Given the description of an element on the screen output the (x, y) to click on. 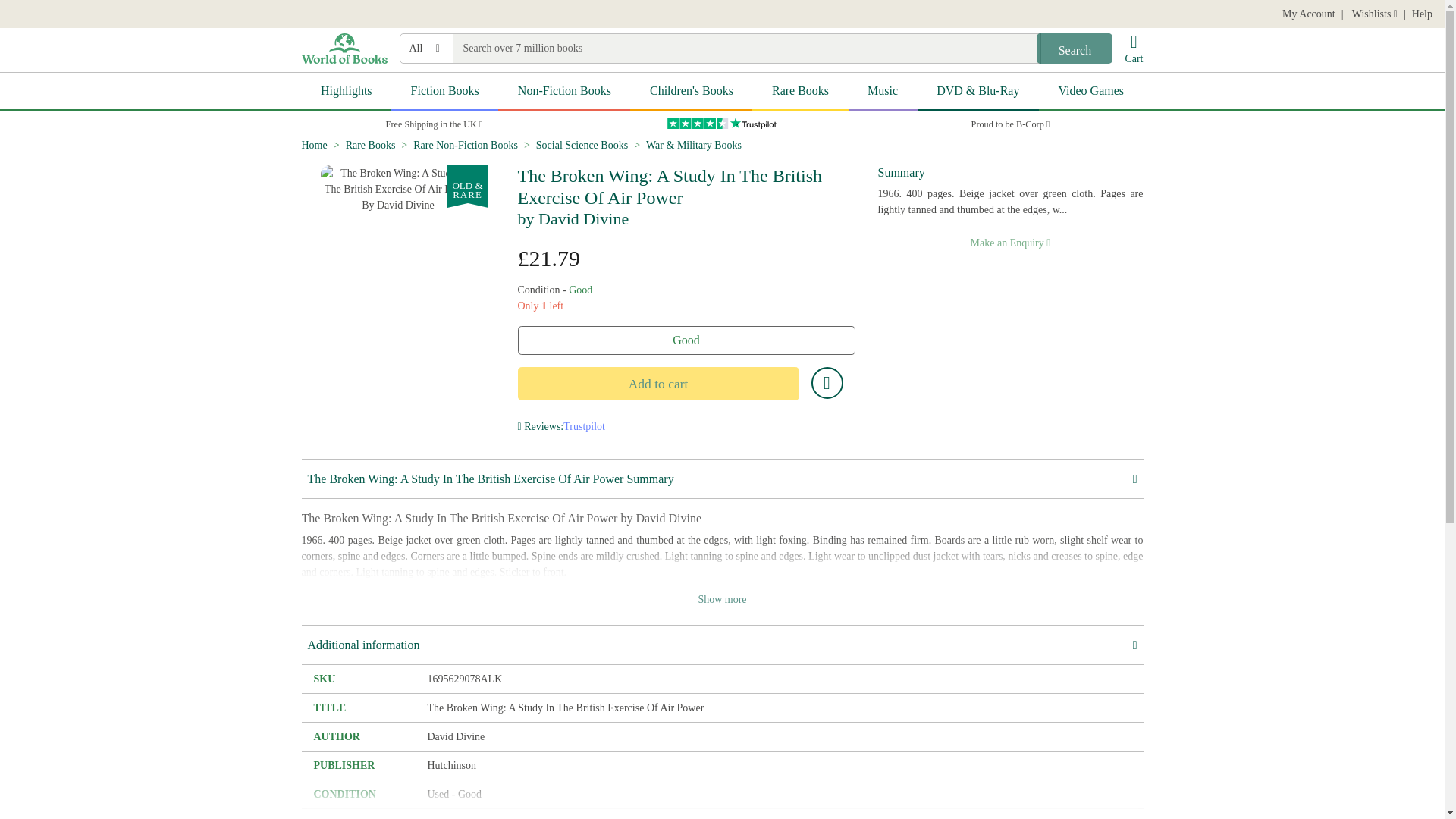
Fiction Books (444, 91)
Help (1422, 13)
Good (685, 339)
Music (882, 91)
Rare Books (799, 91)
Rare Books (371, 144)
Home (314, 144)
Wishlists (1373, 13)
Add to cart (656, 383)
Social Science Books (581, 144)
Make an Enquiry (1009, 243)
Children's Books (691, 91)
Reviews: (539, 426)
Video Games (1090, 91)
Trustpilot (721, 122)
